Given the description of an element on the screen output the (x, y) to click on. 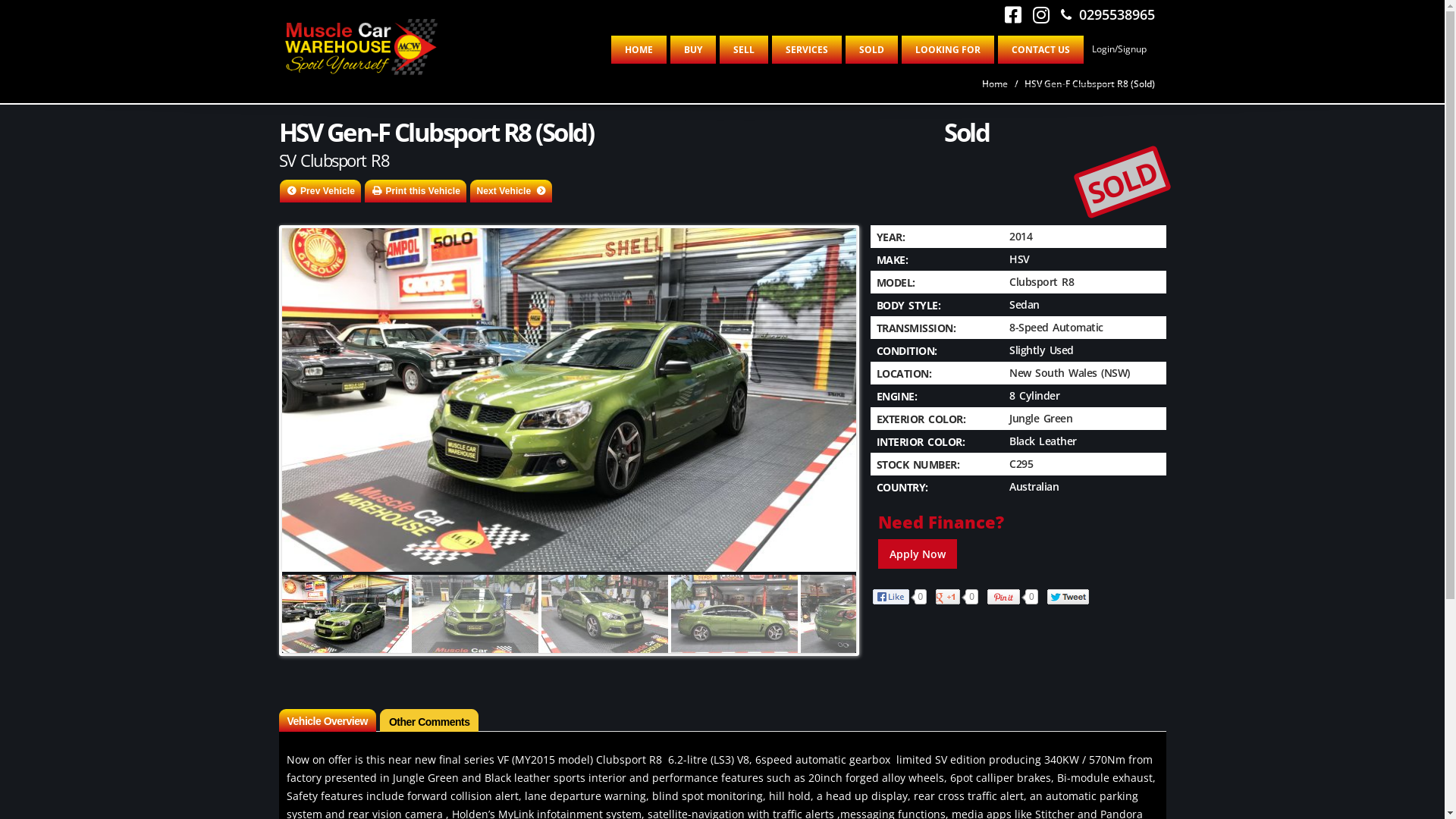
Home Element type: text (994, 83)
LOOKING FOR Element type: text (946, 49)
SOLD Element type: text (870, 49)
Prev Vehicle Element type: text (319, 191)
Print this Vehicle Element type: text (415, 191)
Apply Now Element type: text (917, 553)
HOME Element type: text (638, 49)
BUY Element type: text (692, 49)
Other Comments Element type: text (429, 720)
Vehicle Overview Element type: text (327, 720)
SERVICES Element type: text (806, 49)
Login/Signup Element type: text (1118, 48)
0295538965 Element type: text (1107, 14)
SELL Element type: text (742, 49)
Next Vehicle Element type: text (511, 191)
CONTACT US Element type: text (1040, 49)
